Given the description of an element on the screen output the (x, y) to click on. 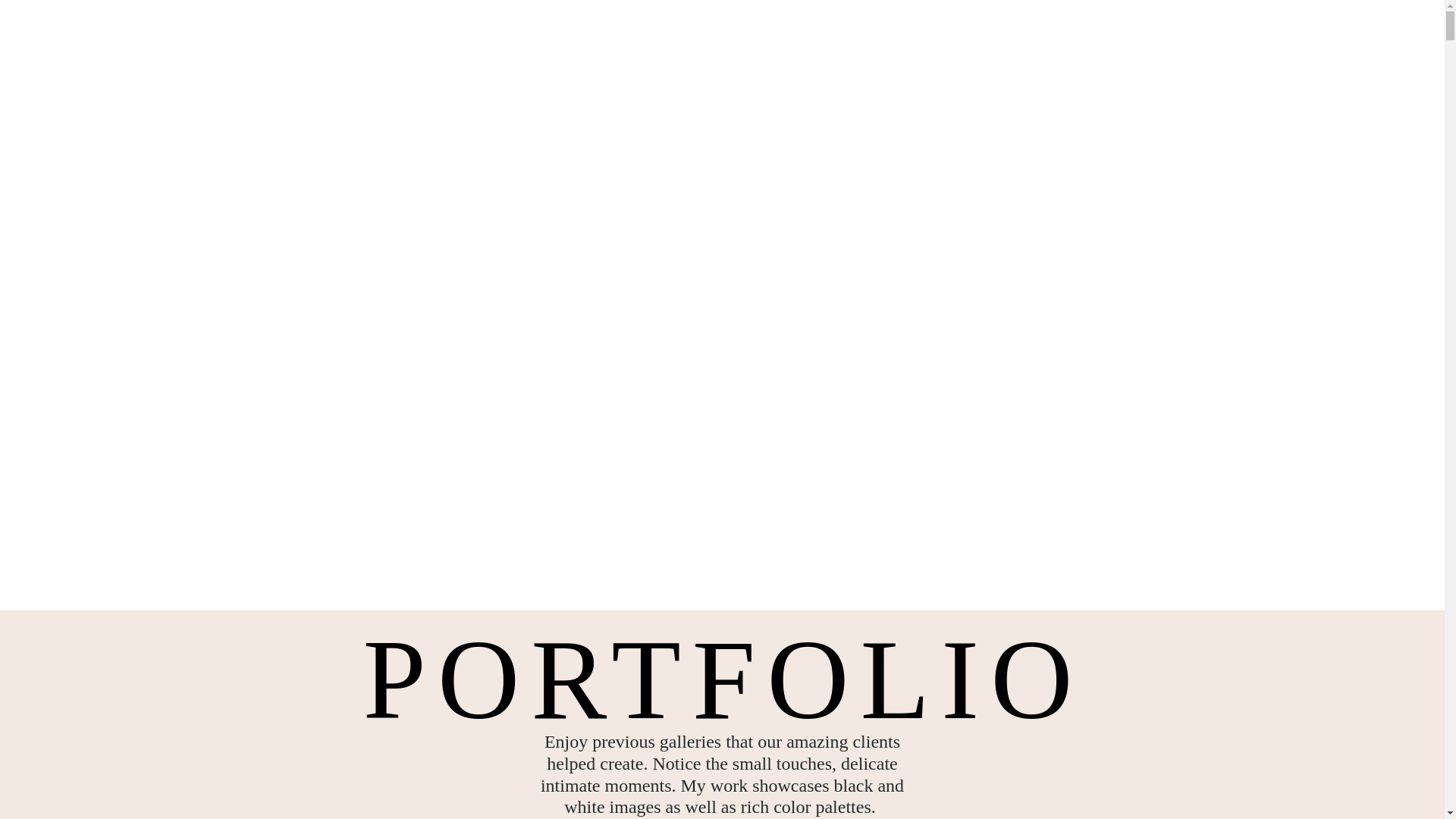
ABOUT (318, 53)
WEDDINGS (1133, 53)
ELOPEMENTS (1133, 92)
PORTFOLIO (319, 92)
CONTACT (1133, 129)
BLOG (319, 129)
